Given the description of an element on the screen output the (x, y) to click on. 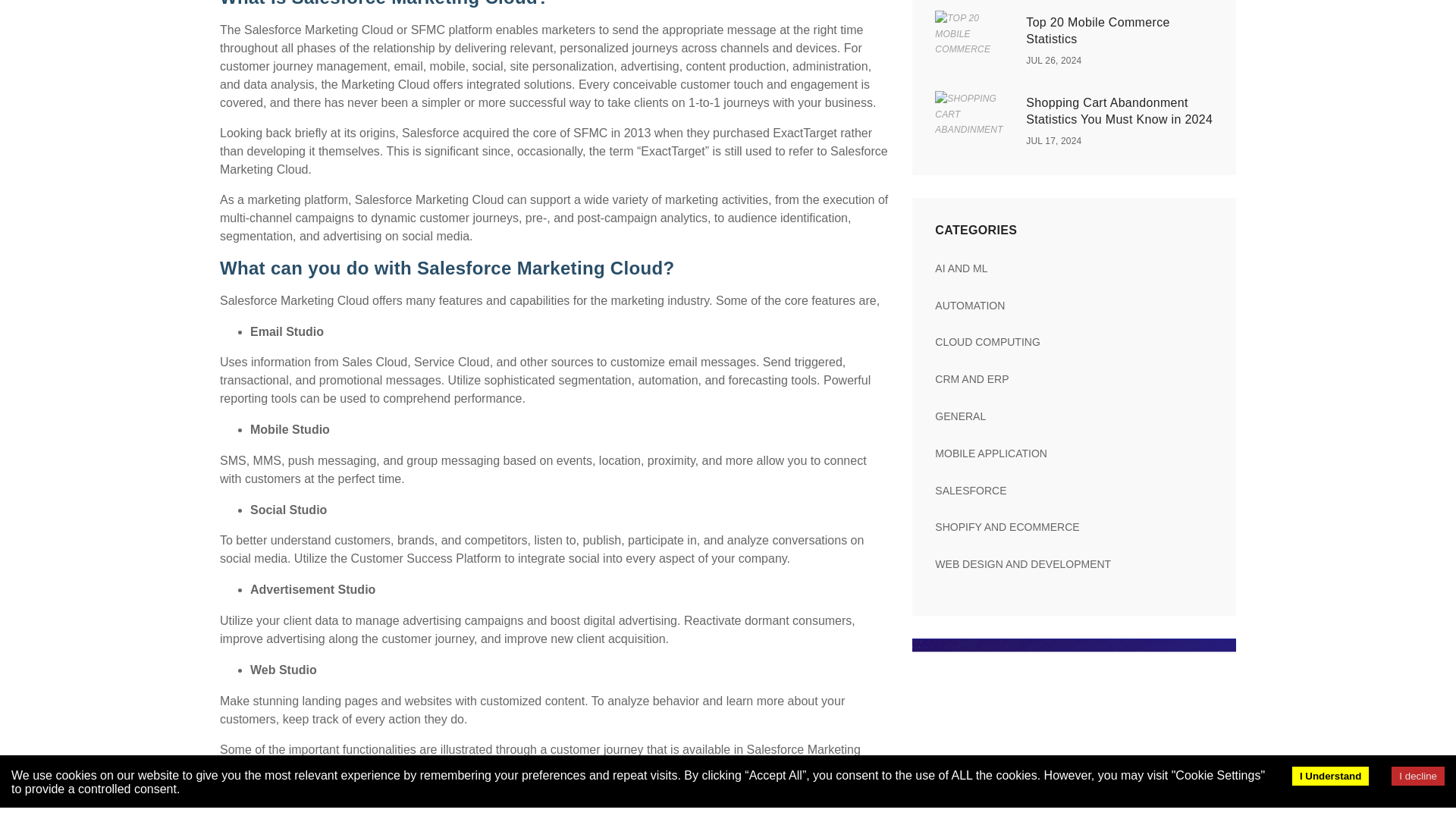
SALESFORCE (1073, 490)
Recent Posts (1073, 563)
Recent Posts (1073, 341)
Shopping Cart Abandonment Statistics You Must Know in 2024 (1119, 110)
AI AND ML (1073, 268)
JUL 17, 2024 (1053, 140)
Recent Posts (1073, 453)
Recent Posts (1073, 305)
AUTOMATION (1073, 305)
Top 20 Mobile Commerce Statistics (1097, 30)
